Given the description of an element on the screen output the (x, y) to click on. 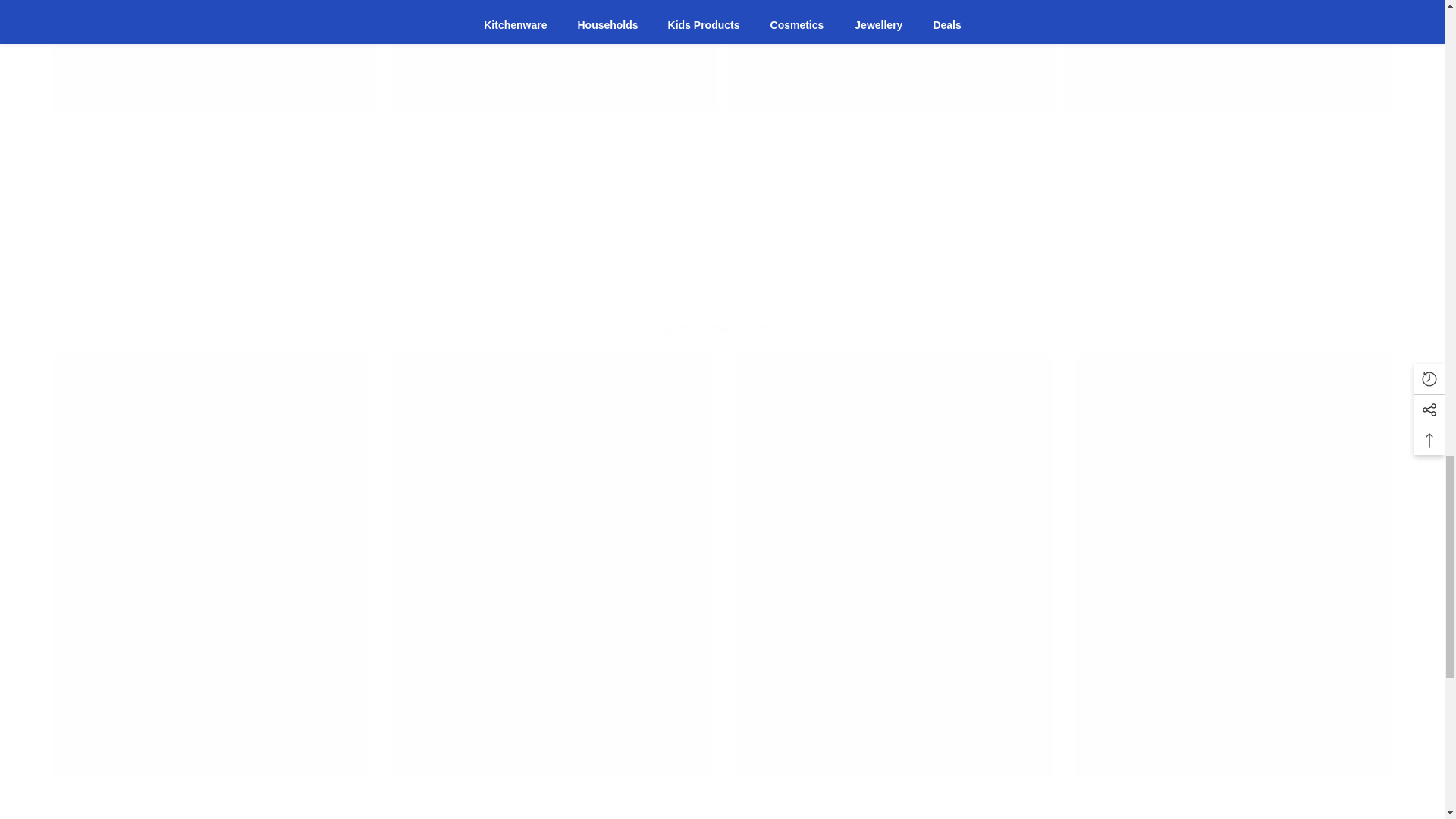
Recently Viewed Products (721, 328)
